Given the description of an element on the screen output the (x, y) to click on. 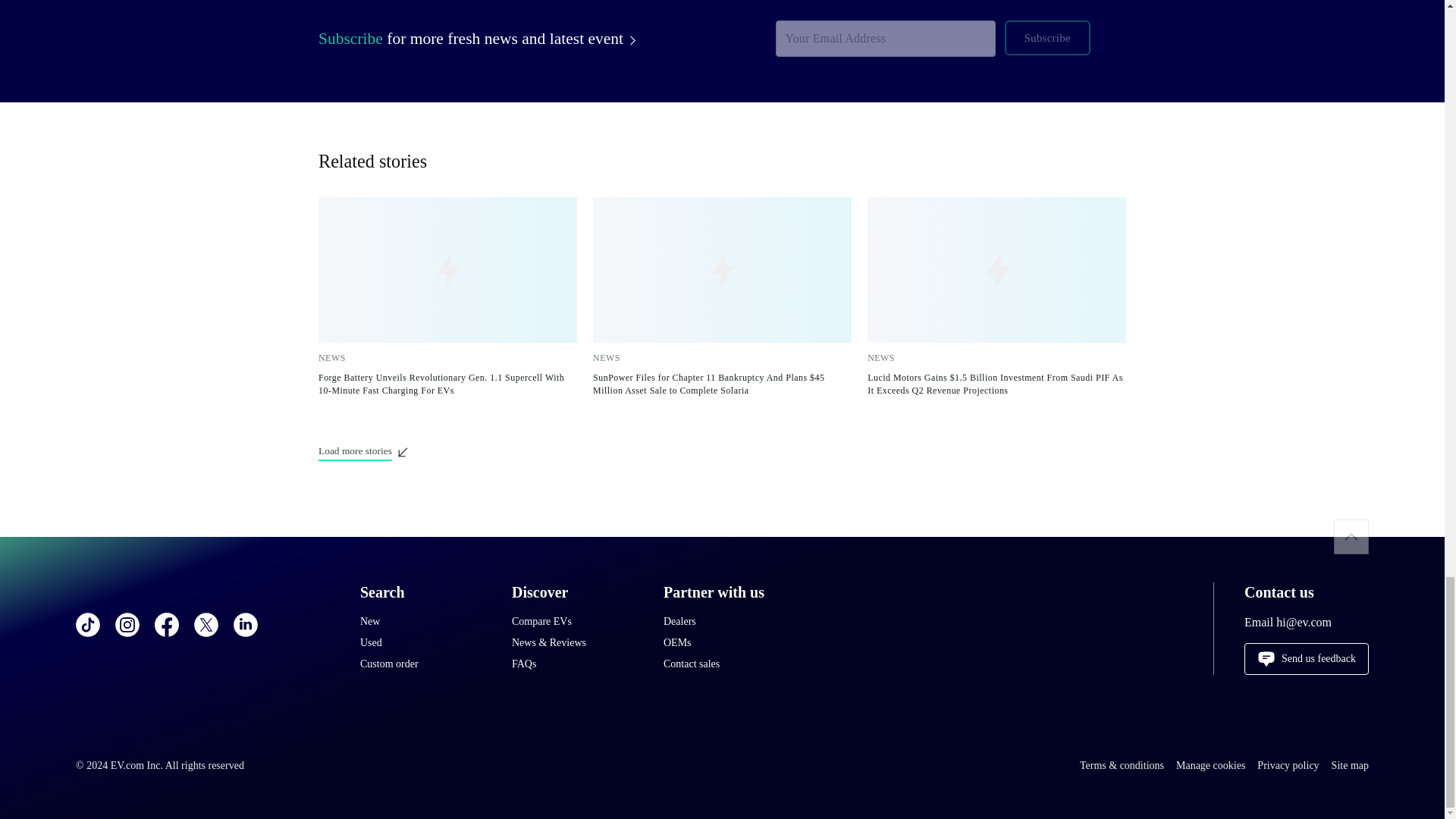
Send us feedback (1306, 658)
OEMs (723, 642)
Subscribe (1046, 37)
New (420, 621)
Contact sales (723, 663)
Dealers (723, 621)
Compare EVs (572, 621)
FAQs (572, 663)
Used (420, 642)
